Given the description of an element on the screen output the (x, y) to click on. 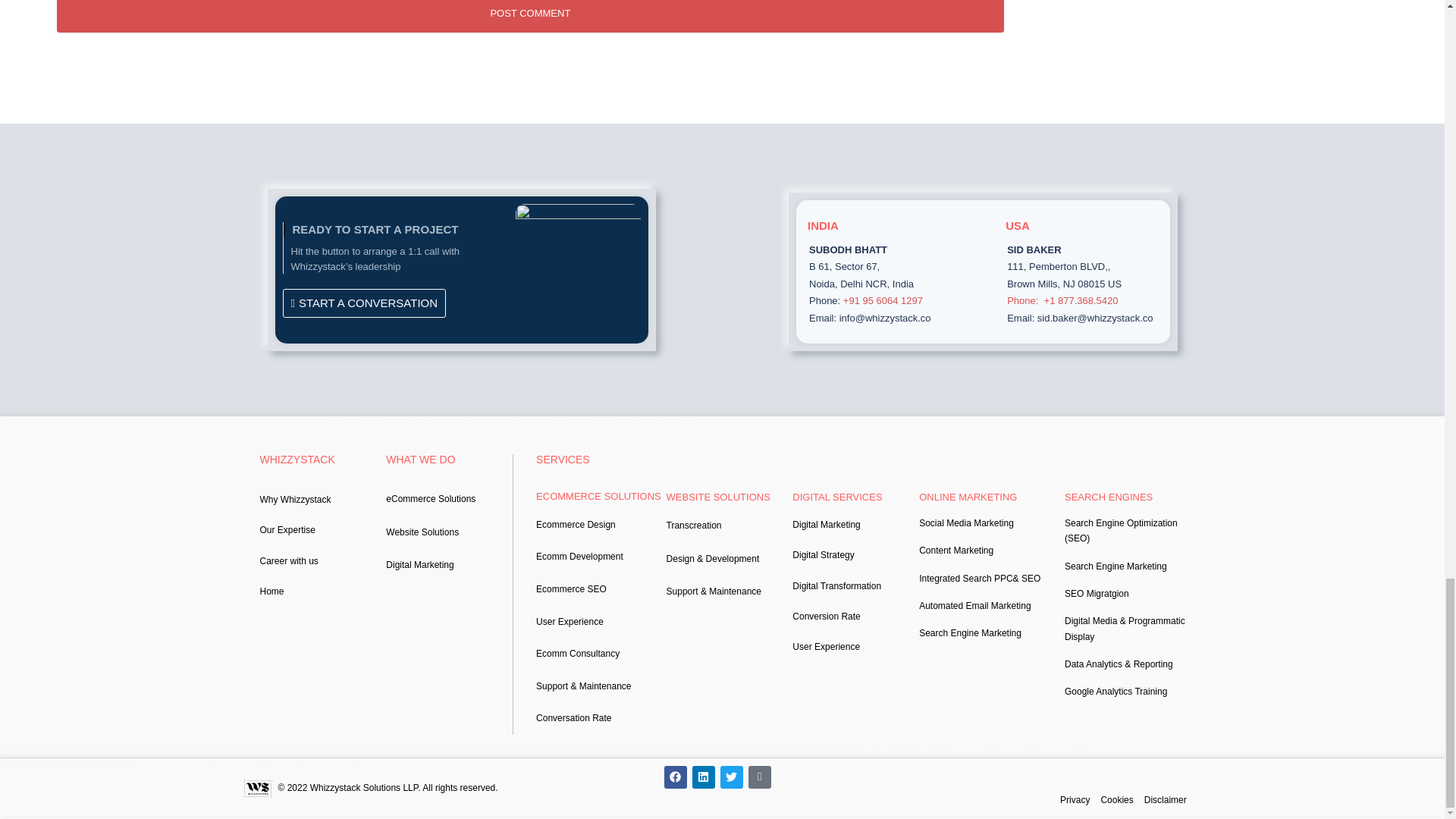
Post Comment (530, 16)
